Given the description of an element on the screen output the (x, y) to click on. 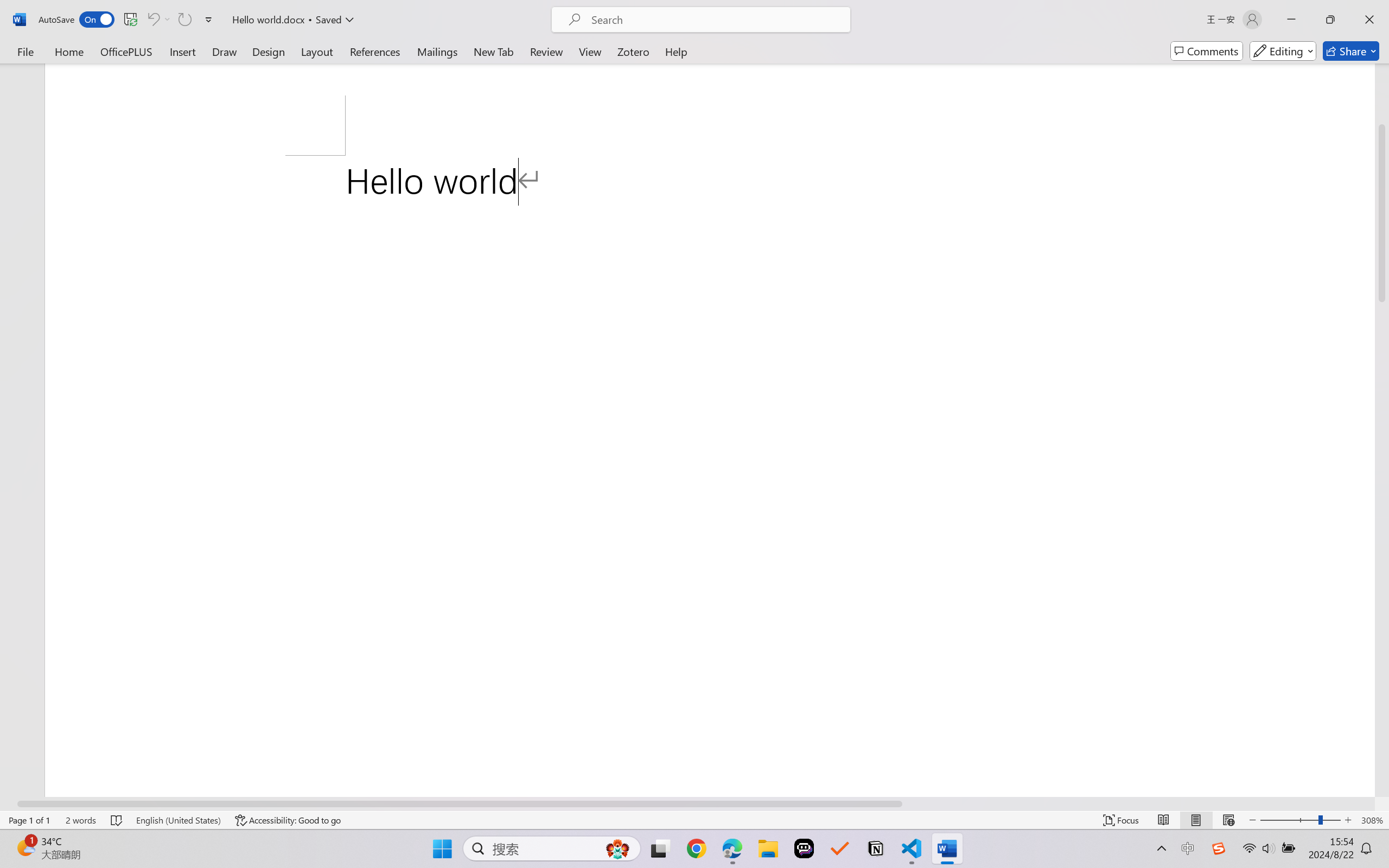
Design (268, 51)
Class: NetUIScrollBar (687, 803)
AutoSave (76, 19)
Zotero (632, 51)
Minimize (1291, 19)
Zoom In (1348, 819)
Customize Quick Access Toolbar (208, 19)
Class: MsoCommandBar (694, 819)
Restore Down (1330, 19)
Focus  (1121, 819)
Review (546, 51)
New Tab (493, 51)
Mailings (437, 51)
